Given the description of an element on the screen output the (x, y) to click on. 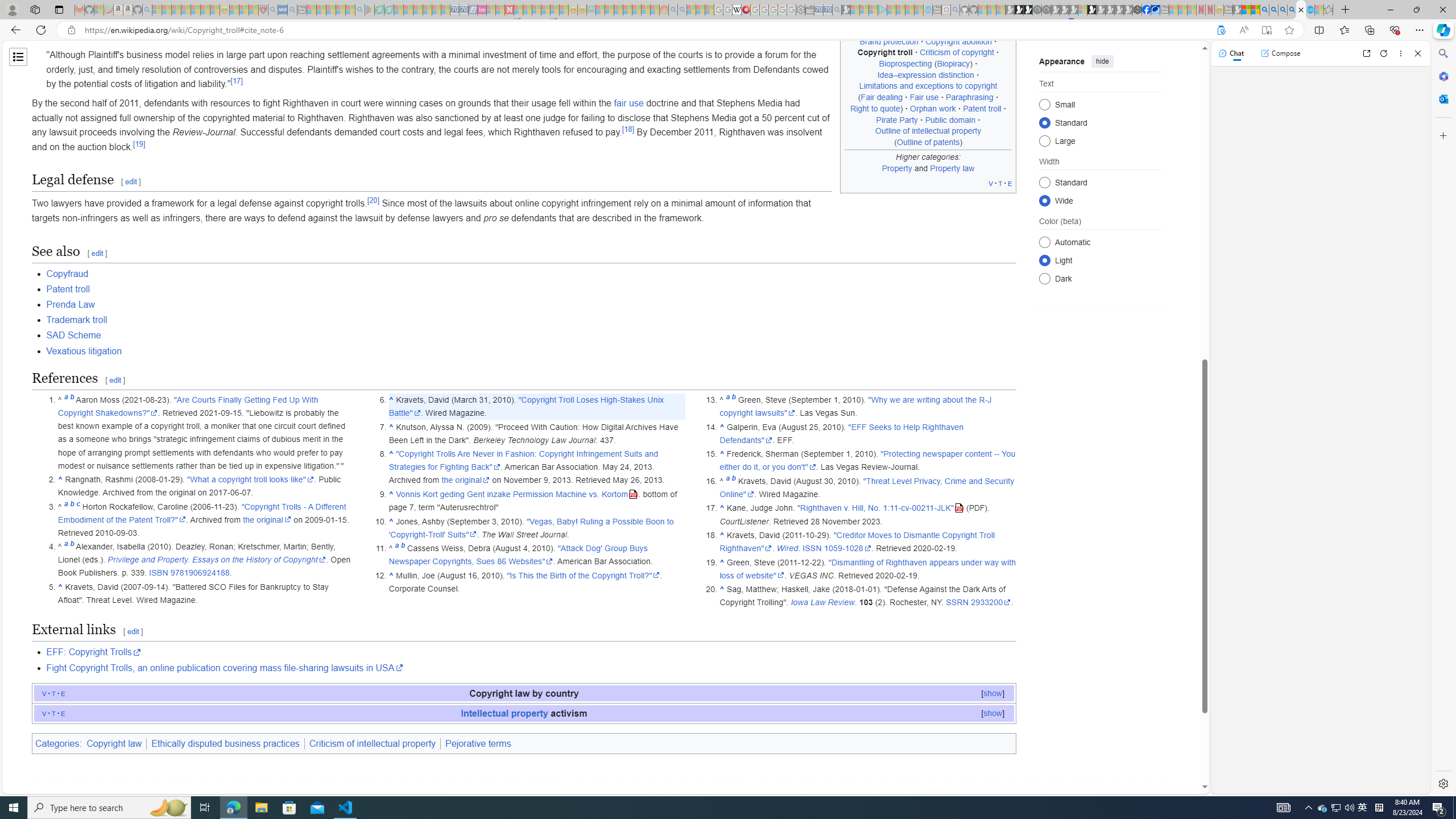
Outline of intellectual property (928, 130)
New Report Confirms 2023 Was Record Hot | Watch - Sleeping (195, 9)
Copyright law (113, 742)
e (63, 712)
the original (465, 479)
Bing AI - Search (1264, 9)
Fair dealing (881, 97)
Limitations and exceptions to copyright (928, 85)
Play Zoo Boom in your browser | Games from Microsoft Start (1018, 9)
[18] (627, 128)
